Given the description of an element on the screen output the (x, y) to click on. 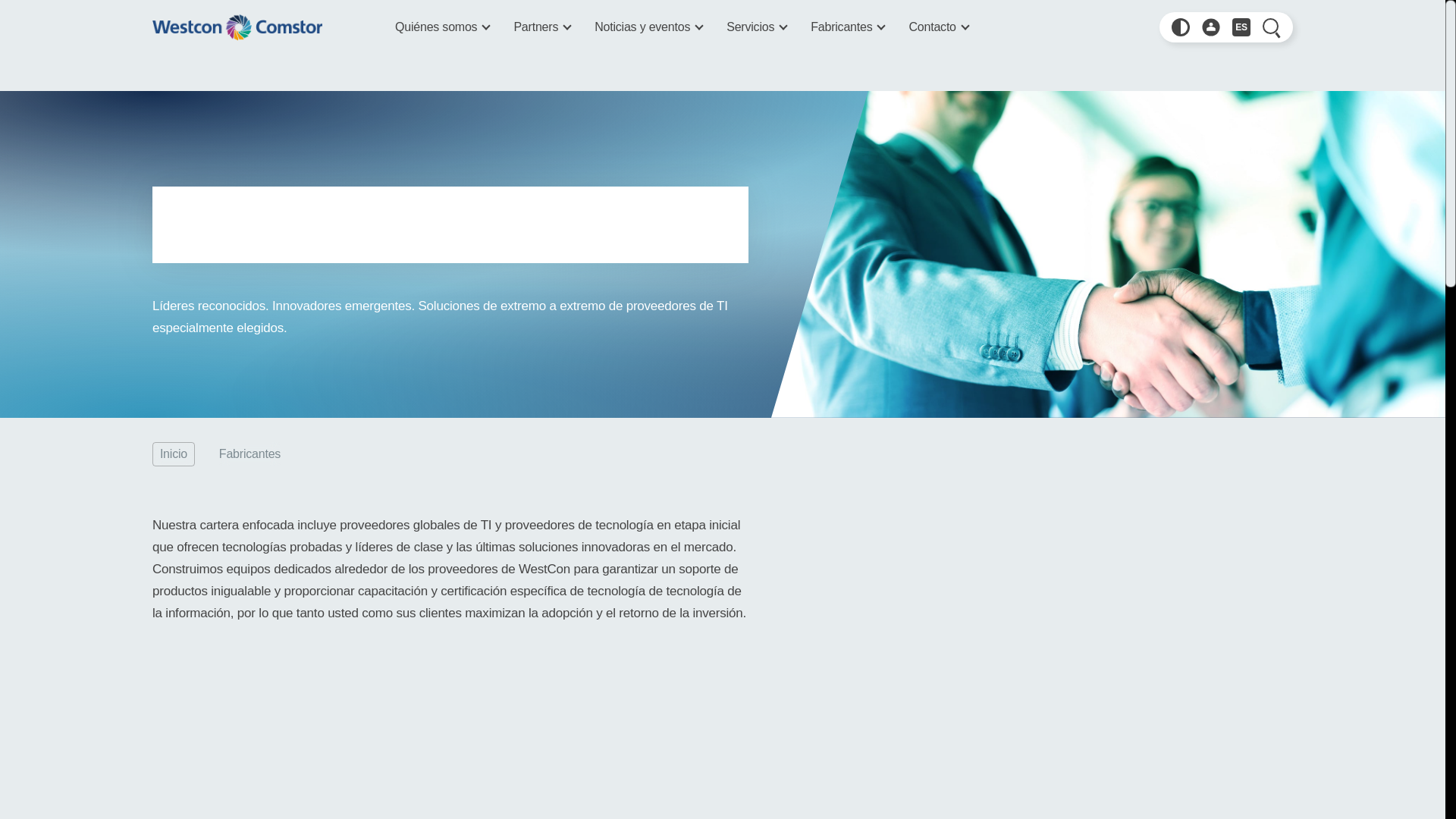
Fabricantes (846, 27)
Partners (541, 27)
Skip to main content (193, 1)
Servicios (756, 27)
Noticias y eventos (647, 27)
